Given the description of an element on the screen output the (x, y) to click on. 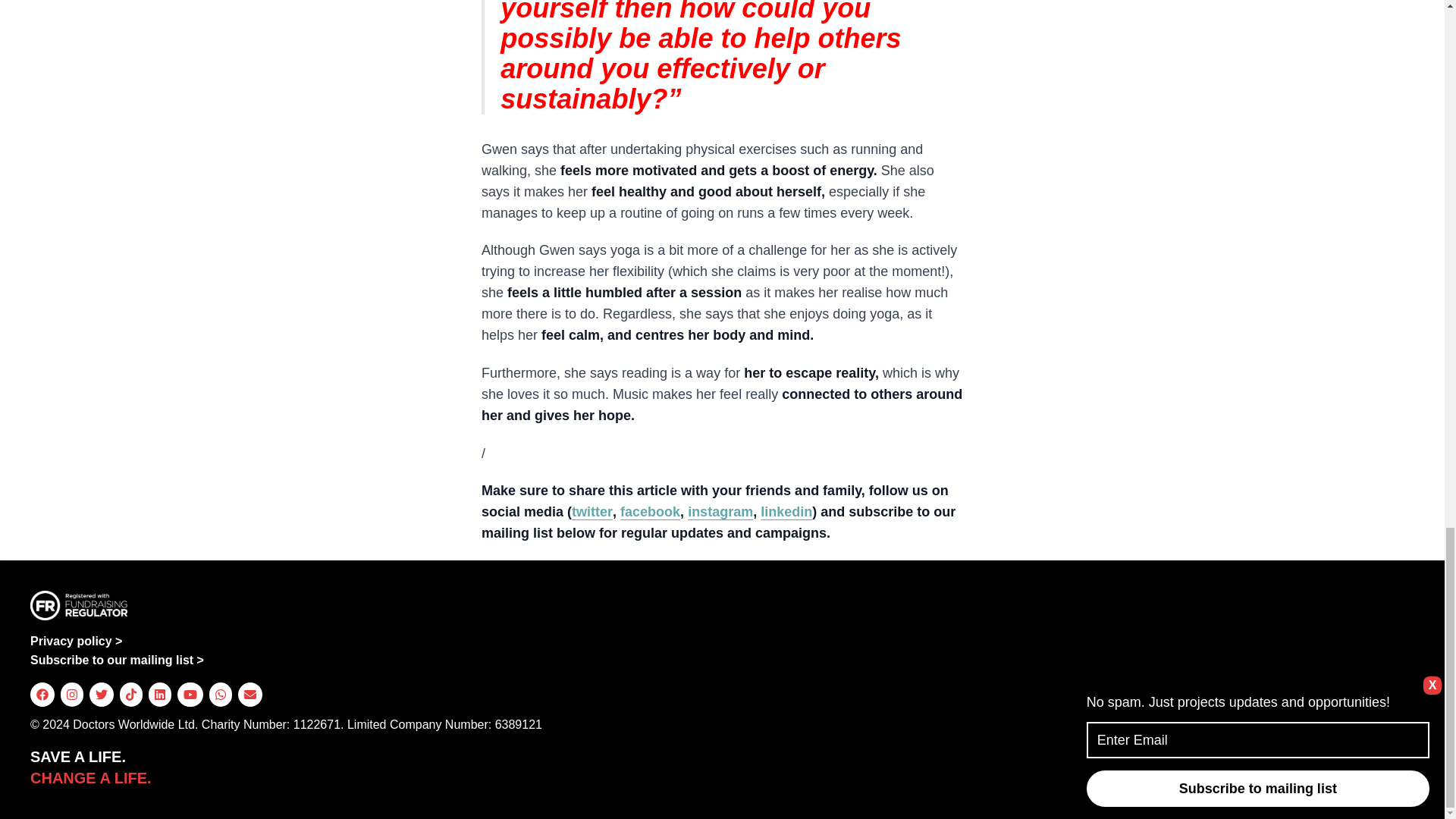
linkedin (786, 511)
instagram (719, 511)
facebook (649, 511)
twitter (592, 511)
